Given the description of an element on the screen output the (x, y) to click on. 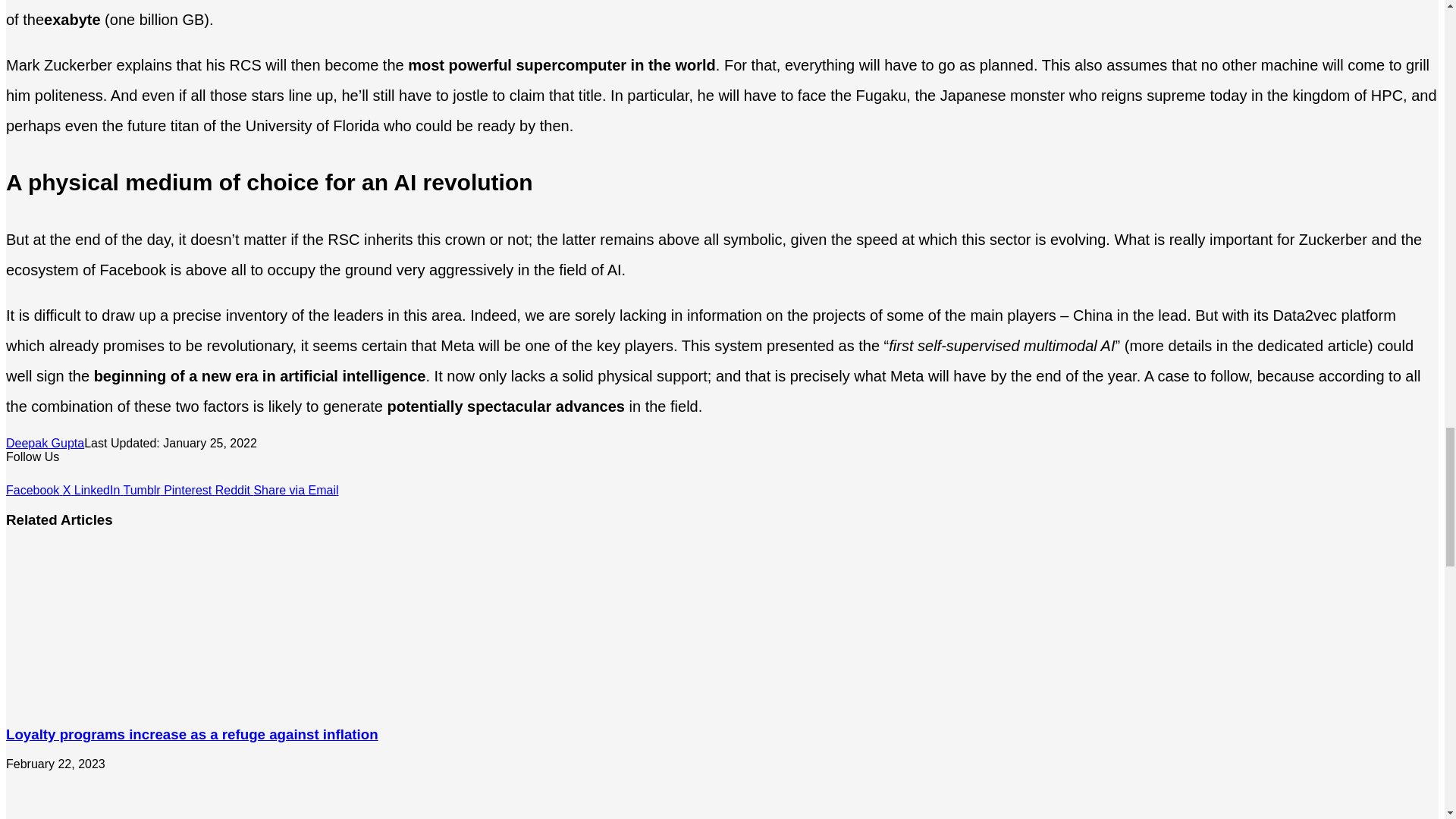
Reddit (234, 490)
LinkedIn (98, 490)
Google News (51, 476)
Reddit (234, 490)
LinkedIn (98, 490)
Deepak Gupta (44, 442)
Facebook (33, 490)
Tumblr (142, 490)
Pinterest (189, 490)
Deepak Gupta (44, 442)
